Given the description of an element on the screen output the (x, y) to click on. 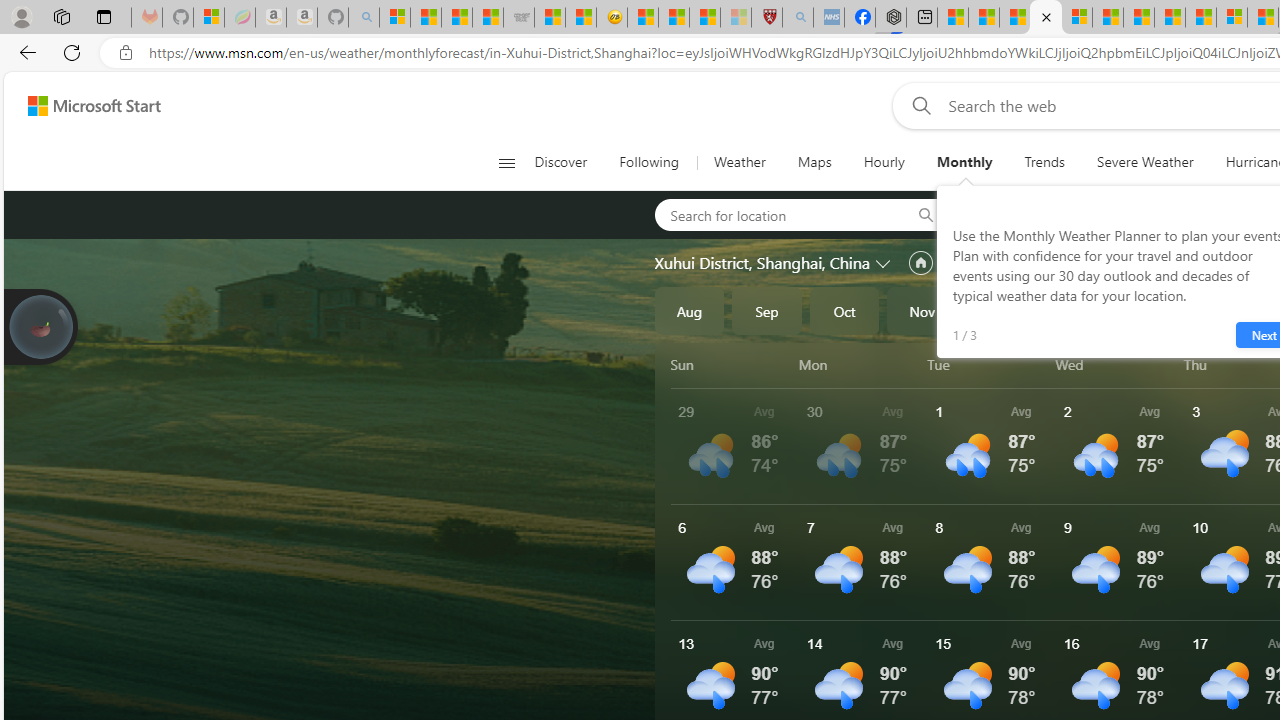
Trusted Community Engagement and Contributions | Guidelines (1200, 17)
Following (649, 162)
Weather (738, 162)
Microsoft account | Privacy (1076, 17)
Discover (568, 162)
Xuhui District, Shanghai, China (762, 263)
Trends (1044, 162)
Nordace - Nordace Siena Is Not An Ordinary Backpack (890, 17)
Sun (731, 363)
Stocks - MSN (487, 17)
